Given the description of an element on the screen output the (x, y) to click on. 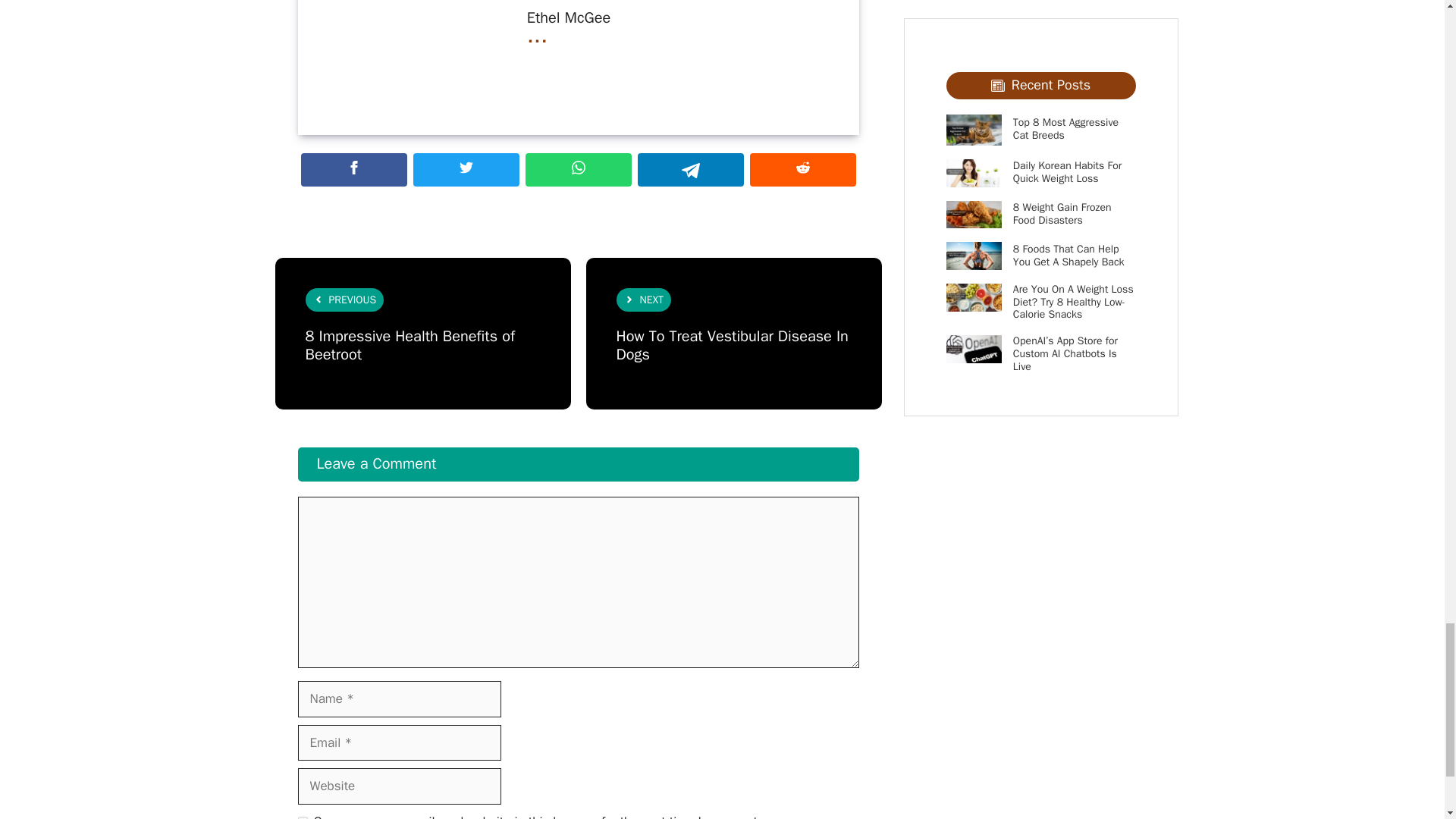
8 Impressive Health Benefits of Beetroot (408, 344)
How To Treat Vestibular Disease In Dogs (731, 344)
